Given the description of an element on the screen output the (x, y) to click on. 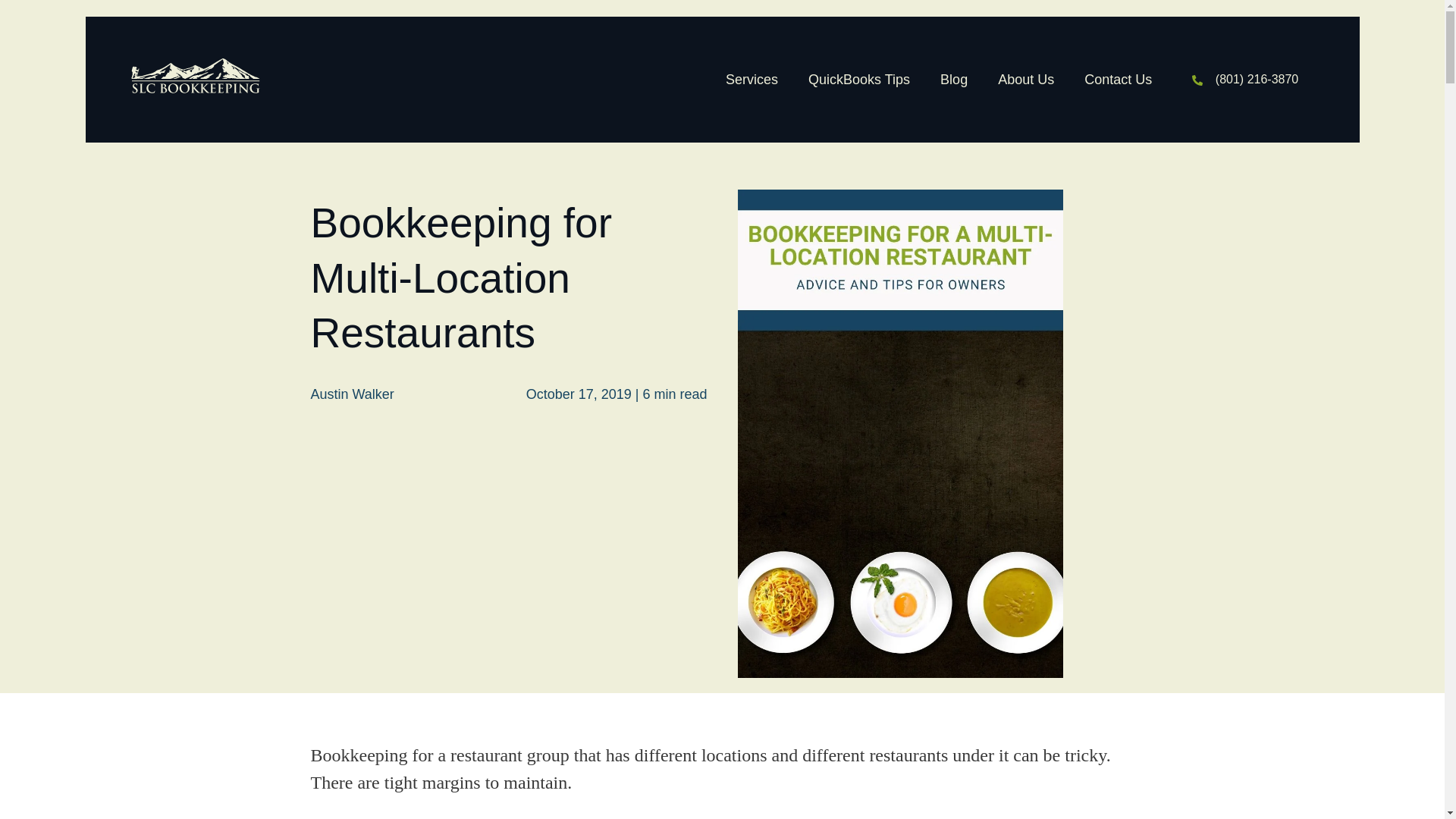
Services (751, 79)
About Us (1025, 79)
Contact Us (1117, 79)
Blog (953, 79)
QuickBooks Tips (858, 79)
logo (195, 75)
